Given the description of an element on the screen output the (x, y) to click on. 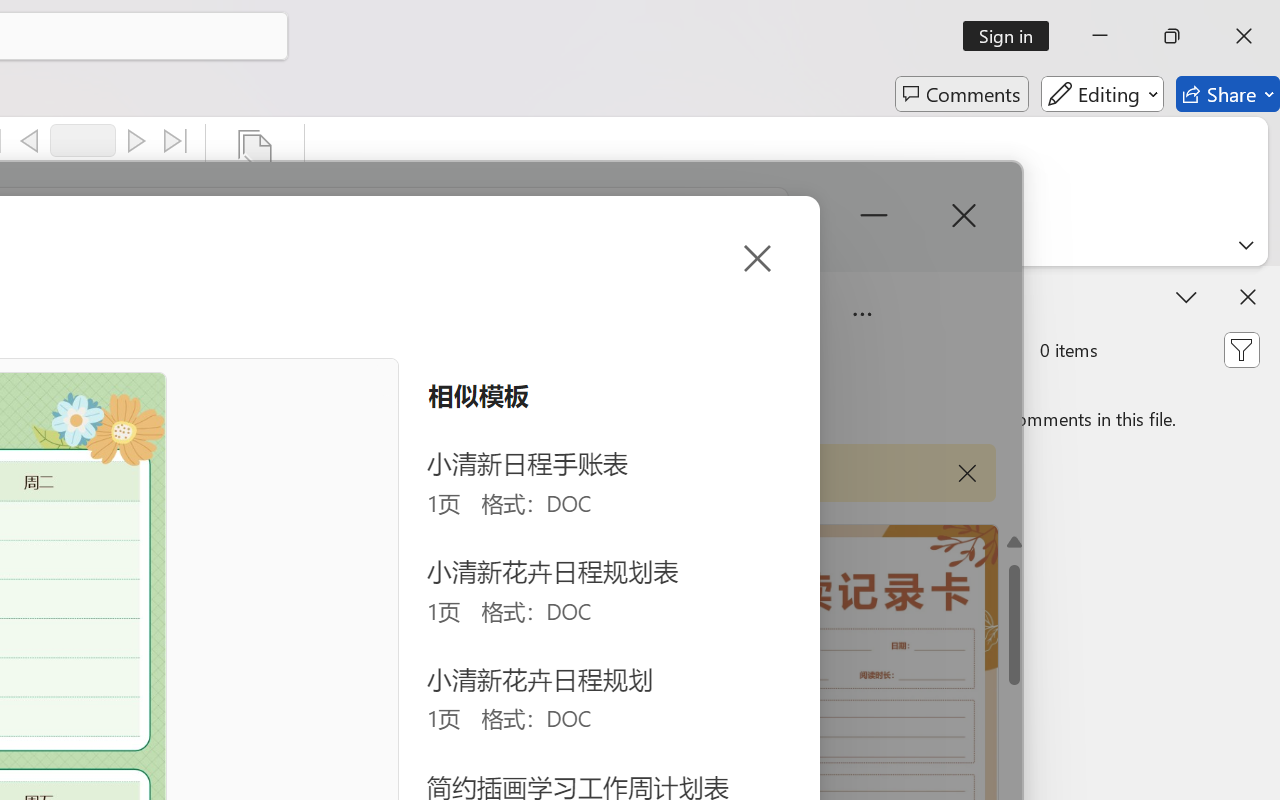
Editing (1101, 94)
